Given the description of an element on the screen output the (x, y) to click on. 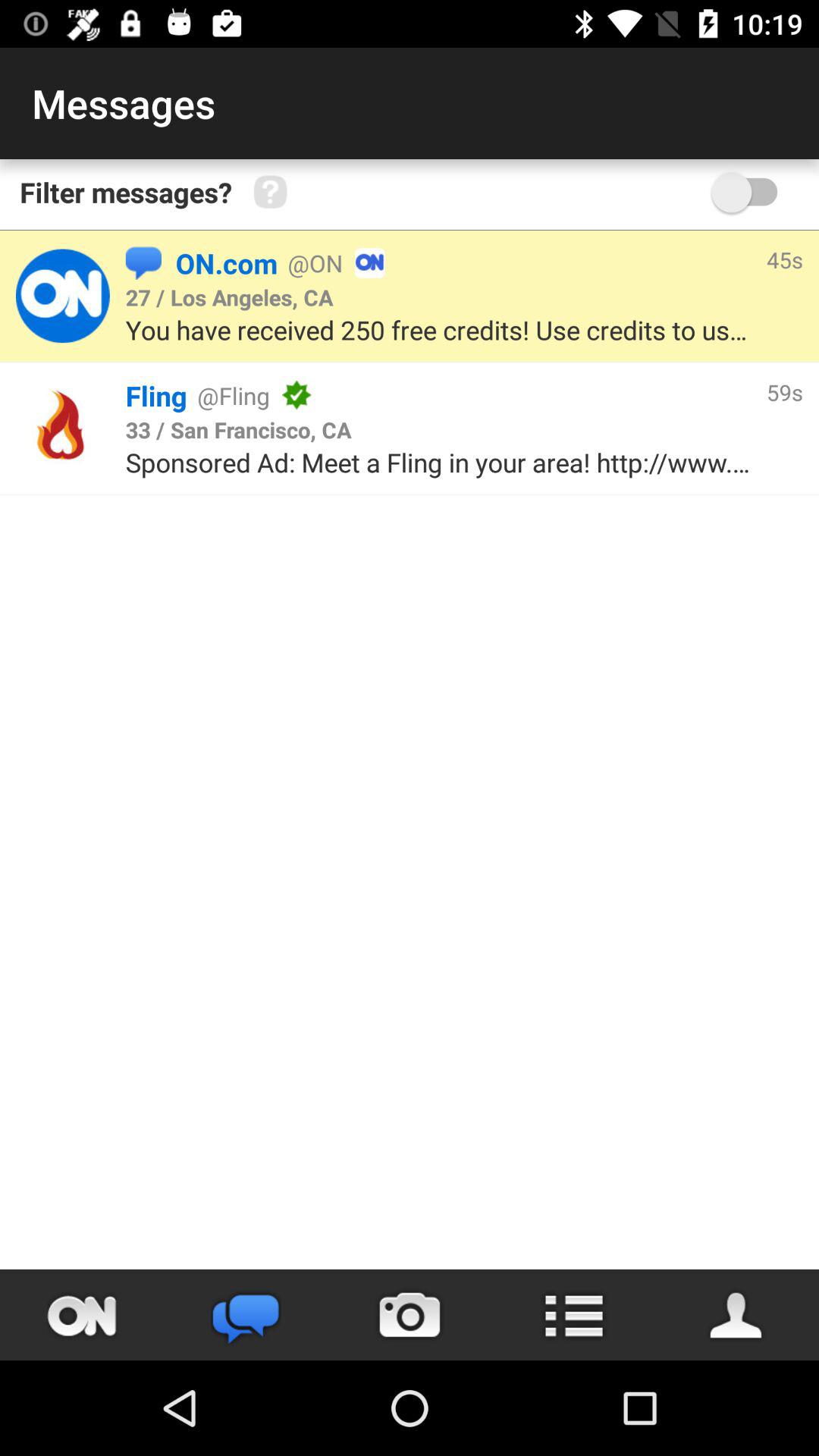
tap icon below 27 los angeles item (441, 329)
